Given the description of an element on the screen output the (x, y) to click on. 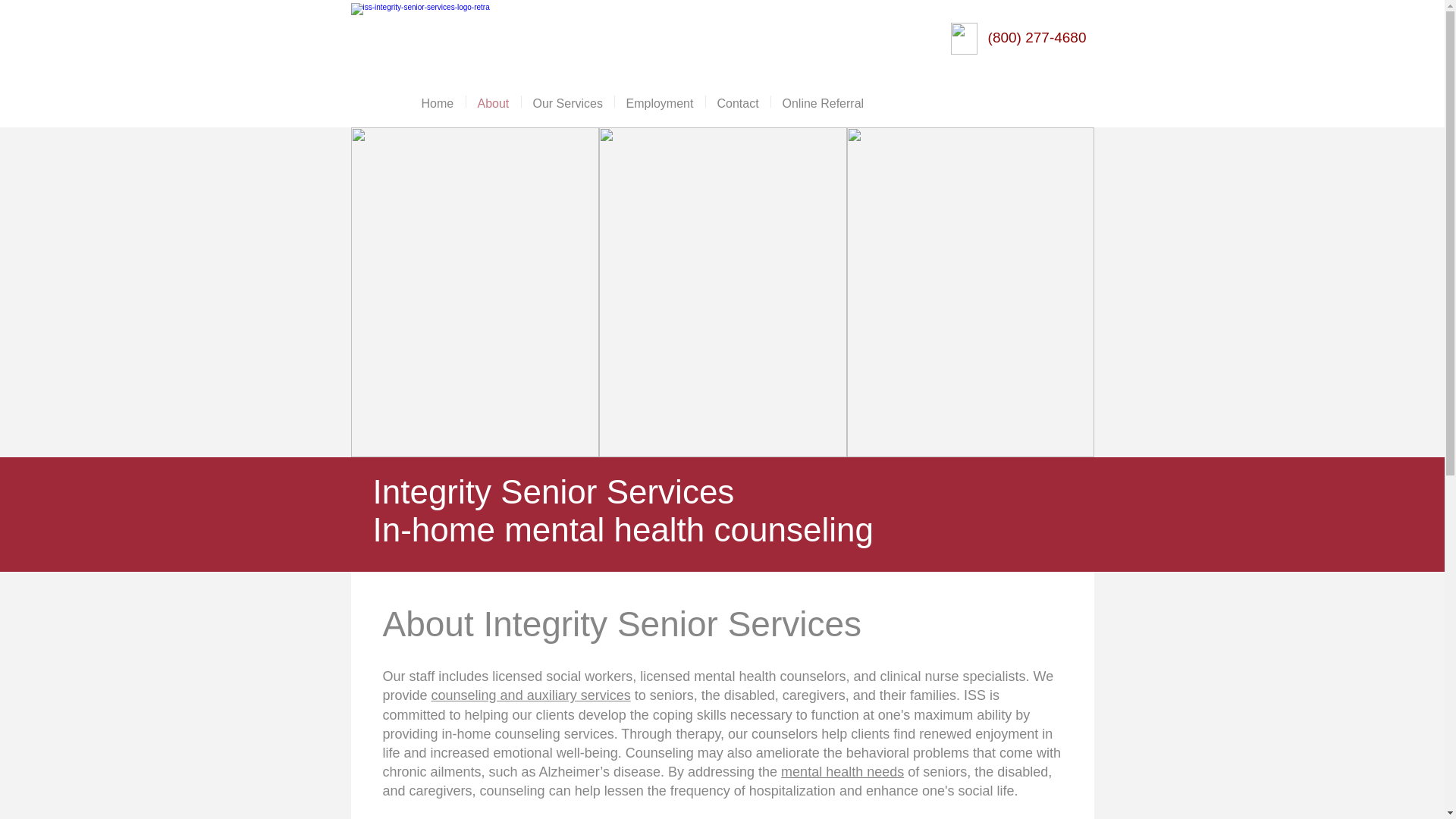
counseling and auxiliary services (530, 694)
Our Services (567, 101)
Online Referral (822, 101)
mental health needs (842, 771)
Contact (737, 101)
Employment (659, 101)
About (492, 101)
Home (436, 101)
